Given the description of an element on the screen output the (x, y) to click on. 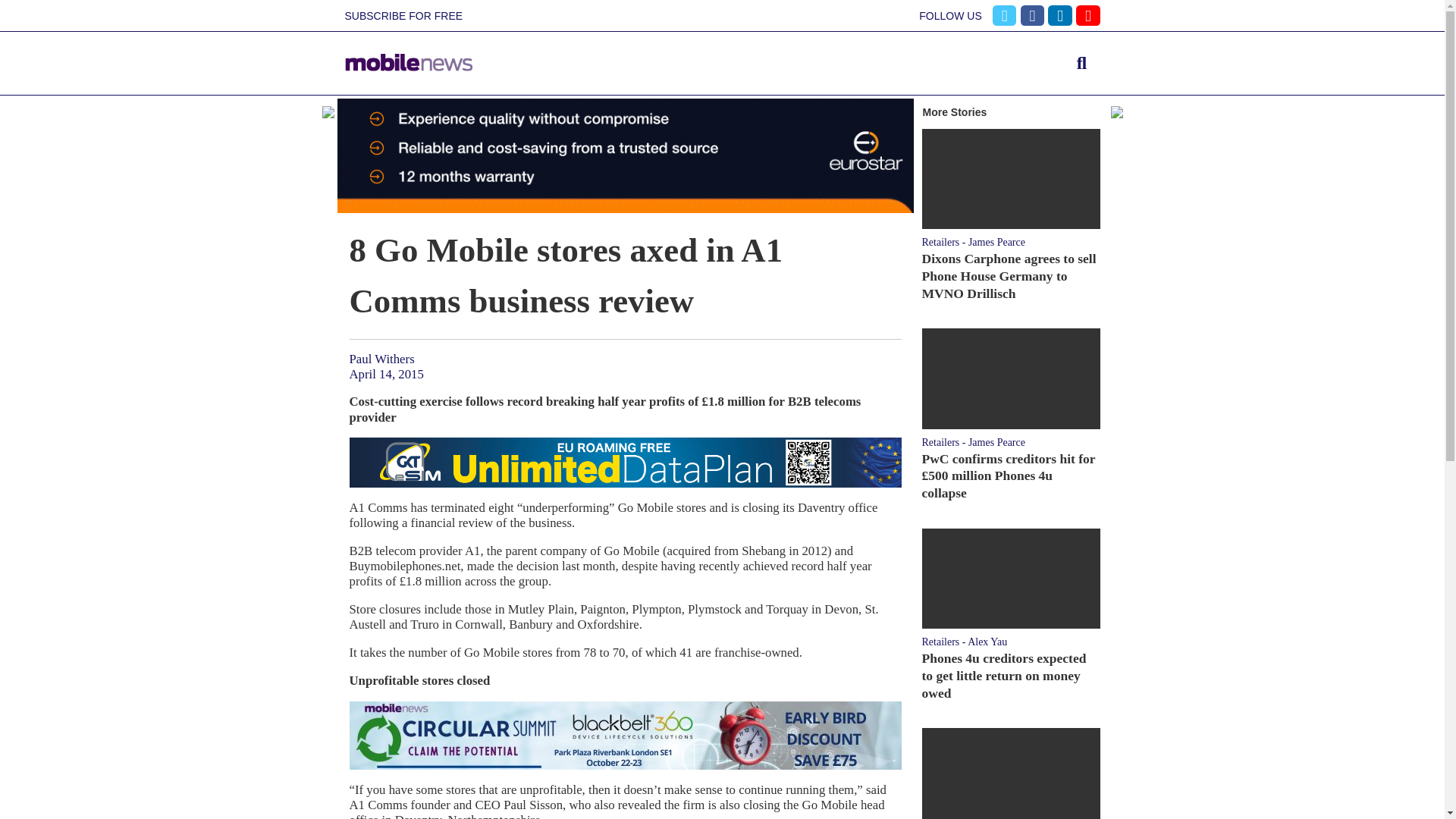
SUBSCRIBE FOR FREE (403, 15)
